Given the description of an element on the screen output the (x, y) to click on. 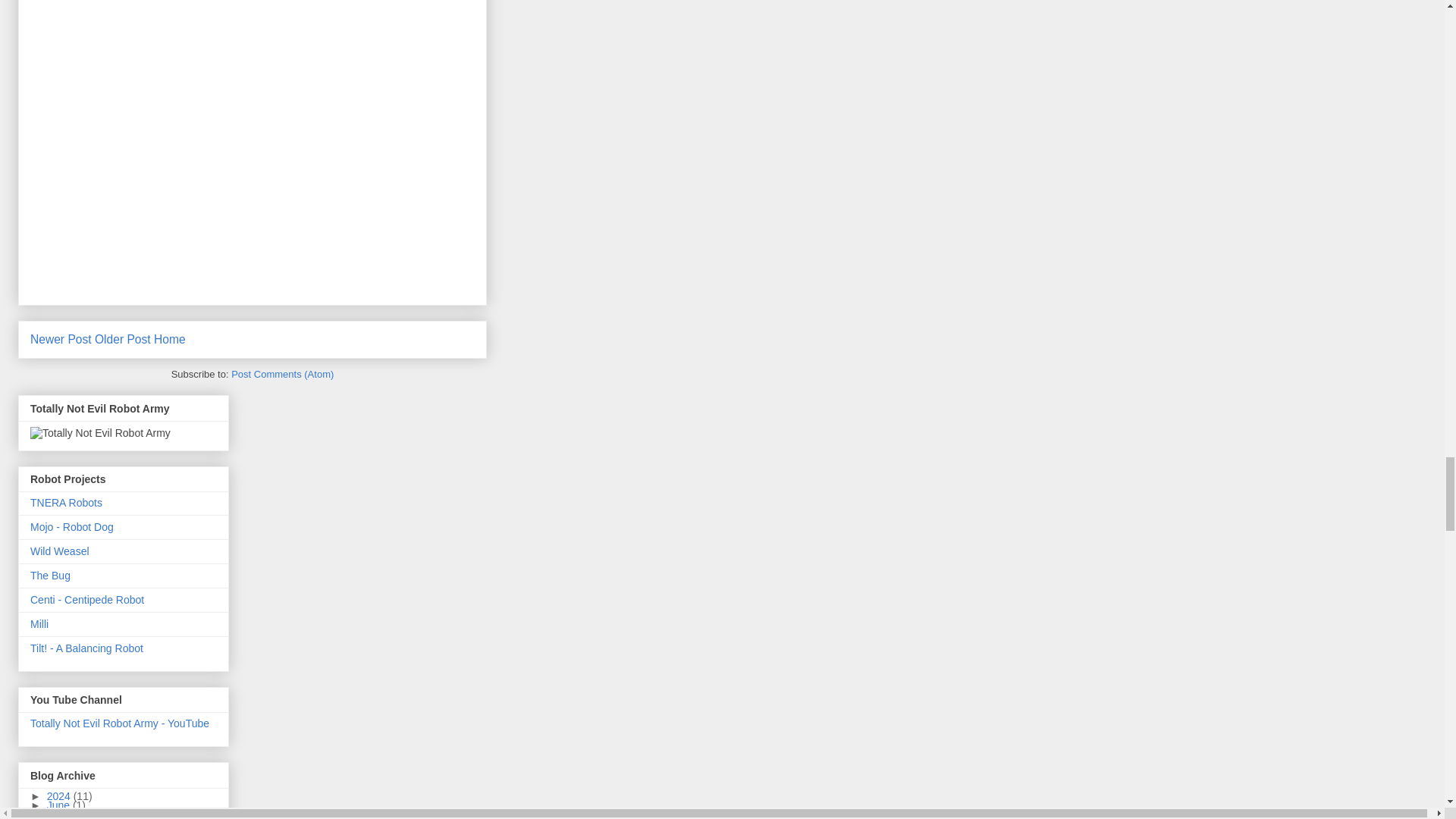
Older Post (122, 338)
Newer Post (60, 338)
